Given the description of an element on the screen output the (x, y) to click on. 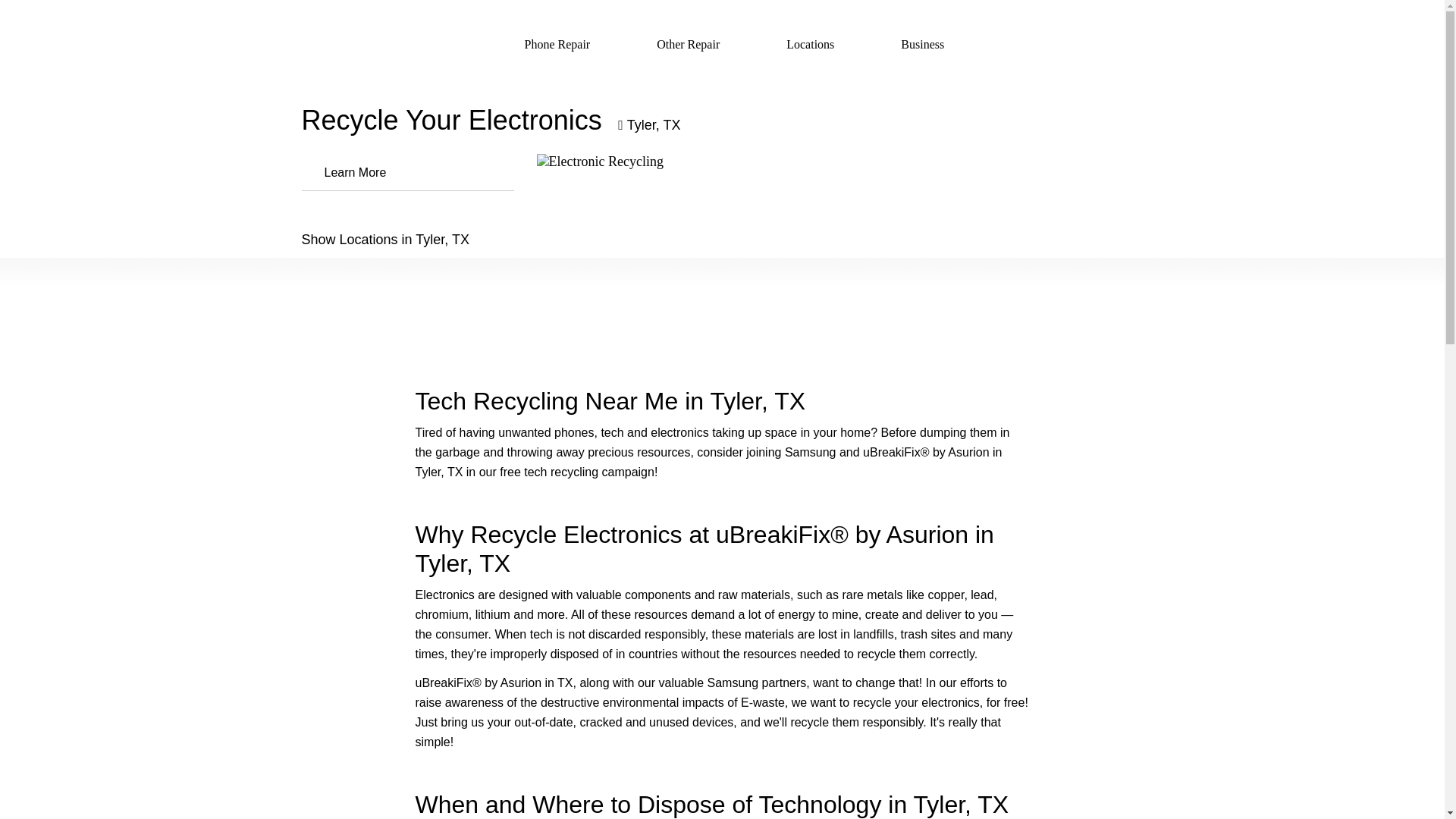
Phone Repair (554, 41)
Learn More (407, 171)
Locations (806, 41)
Other Repair (684, 41)
Business (919, 41)
Show Locations in Tyler, TX (722, 239)
UBREAKIFIX (368, 41)
